Given the description of an element on the screen output the (x, y) to click on. 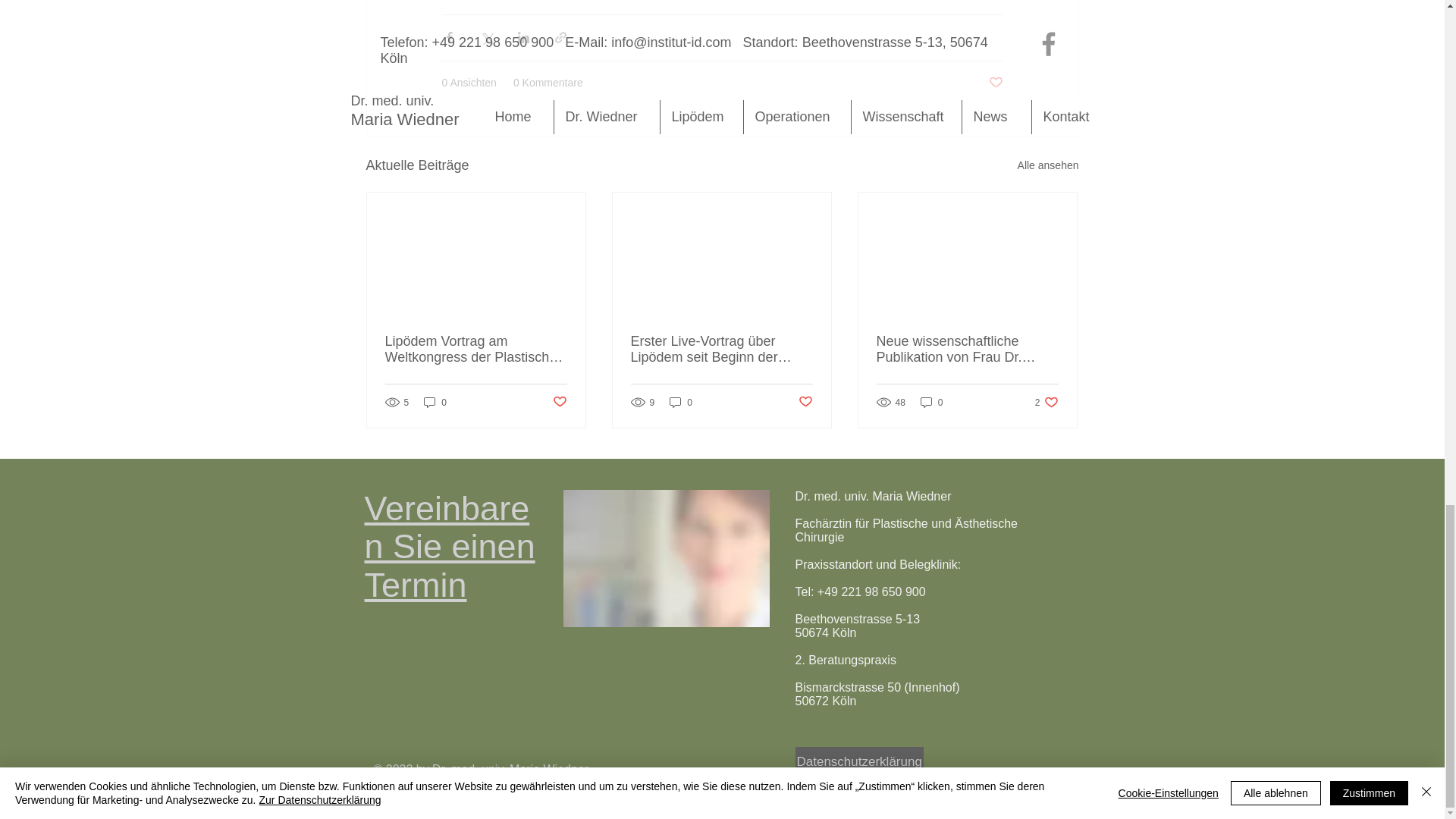
0 (435, 401)
Alle ansehen (1047, 165)
